Given the description of an element on the screen output the (x, y) to click on. 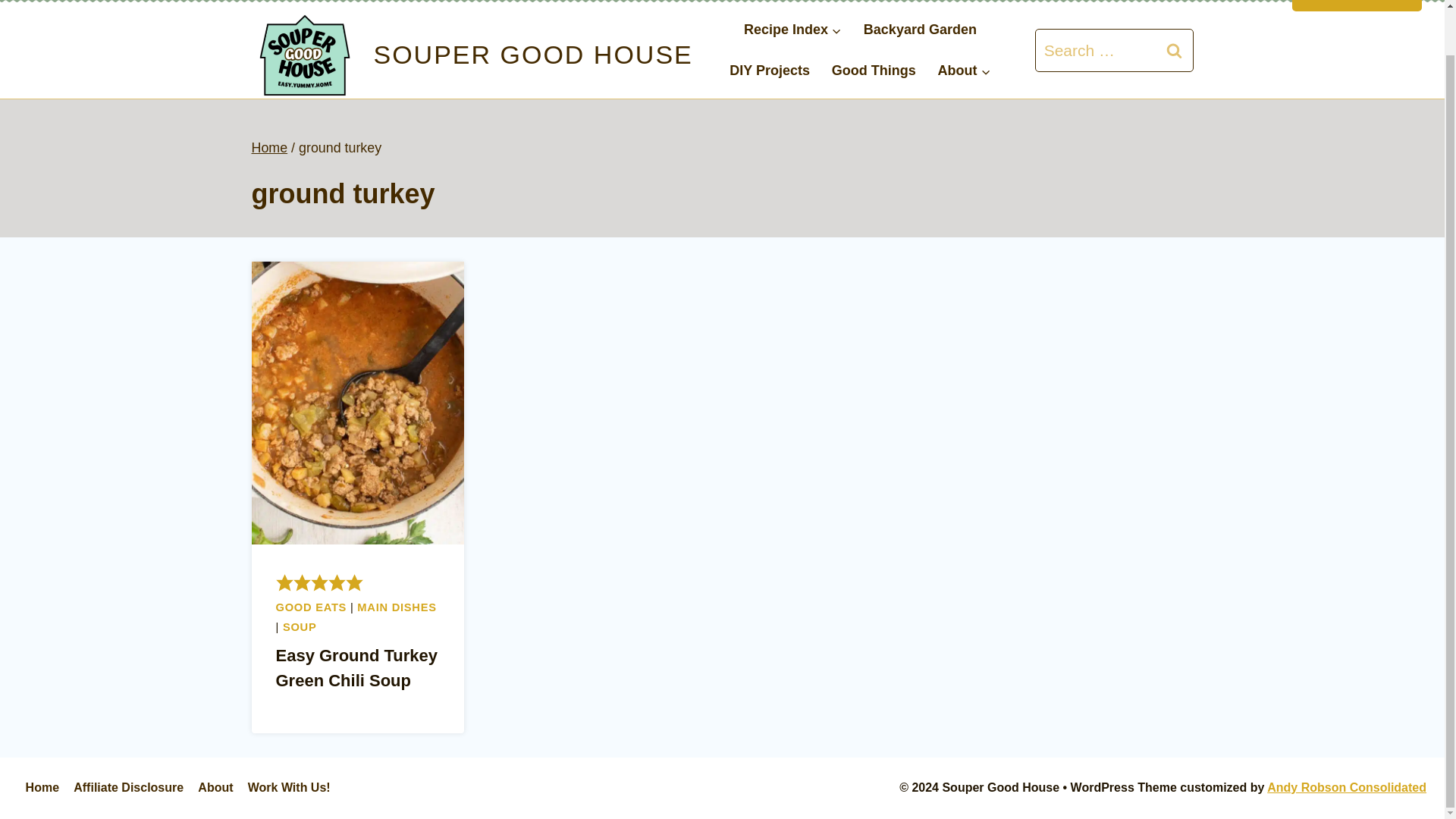
Easy Ground Turkey Green Chili Soup (357, 668)
About (215, 787)
Recipe Index (793, 29)
The Recipe Index (1357, 5)
DIY Projects (770, 69)
Good Things (873, 69)
Home (41, 787)
MAIN DISHES (395, 607)
Affiliate Disclosure (128, 787)
SOUPER GOOD HOUSE (472, 55)
